Given the description of an element on the screen output the (x, y) to click on. 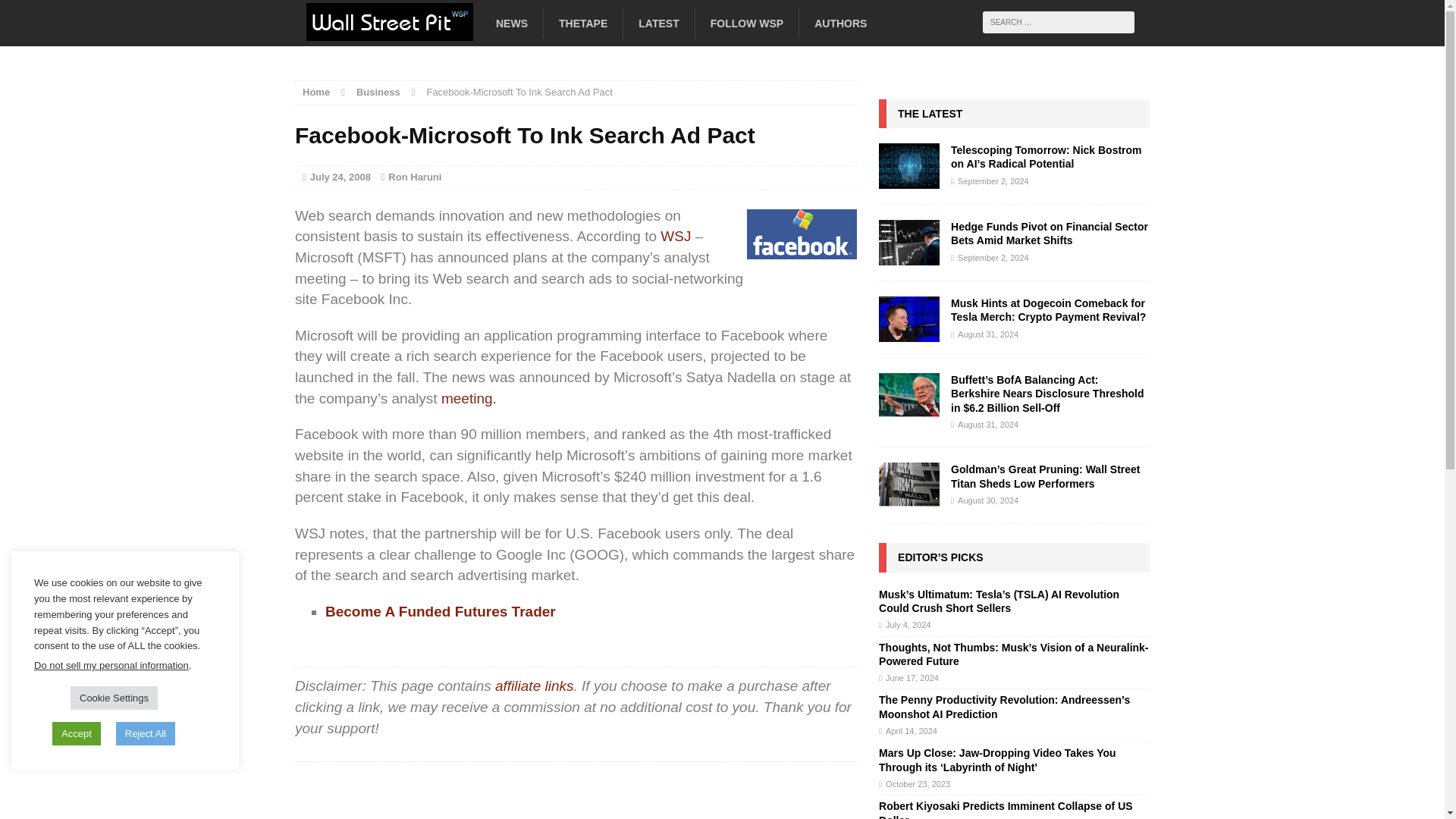
THETAPE (583, 23)
NEWS (511, 23)
Advertisement (576, 794)
Wall Street Pit (427, 28)
LATEST (658, 23)
